Given the description of an element on the screen output the (x, y) to click on. 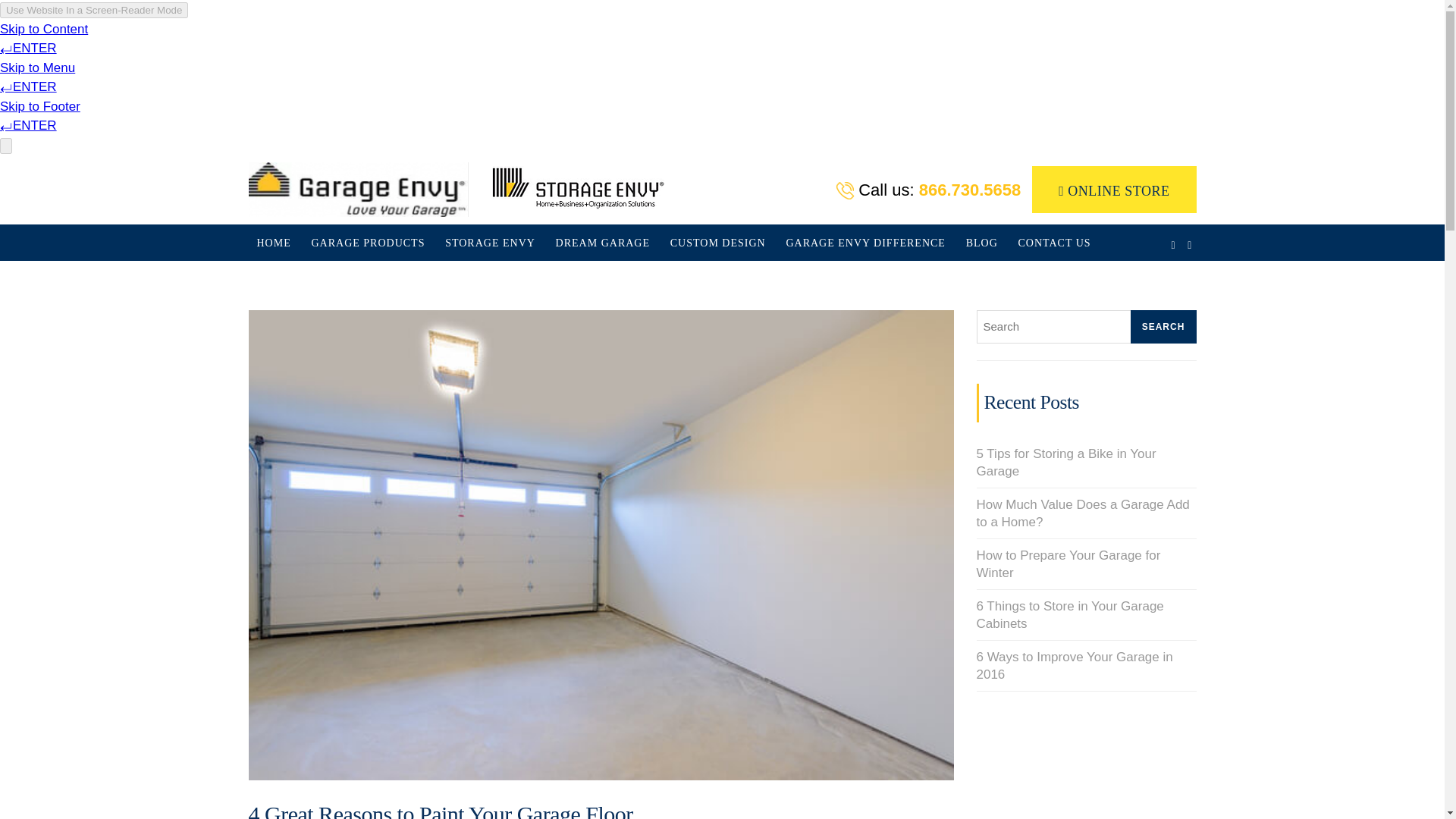
GARAGE ENVY DIFFERENCE (865, 242)
Search (1162, 326)
Search (1162, 326)
Call us: 866.730.5658 (927, 189)
CUSTOM DESIGN (718, 242)
ONLINE STORE (1113, 188)
STORAGE ENVY (489, 242)
DREAM GARAGE (602, 242)
HOME (273, 242)
GARAGE PRODUCTS (367, 242)
